Given the description of an element on the screen output the (x, y) to click on. 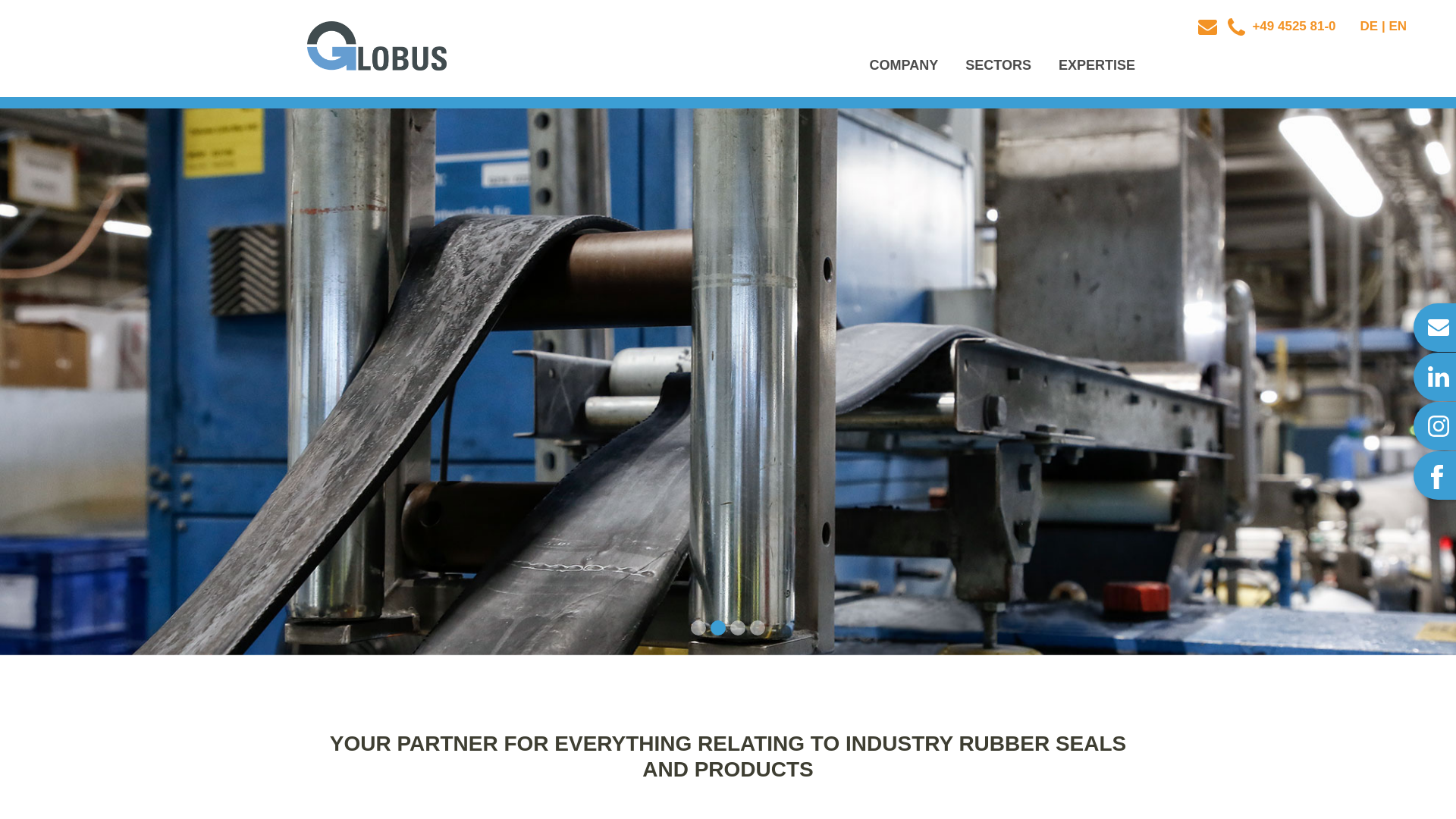
Sectors (998, 65)
Zur deutschen Seite wechseln (1368, 25)
Expertise (1096, 65)
Zur englischen Seite wechseln (1397, 25)
COMPANY (904, 65)
Company (904, 65)
SECTORS (998, 65)
DE (1368, 25)
EXPERTISE (1096, 65)
EN (1397, 25)
